Given the description of an element on the screen output the (x, y) to click on. 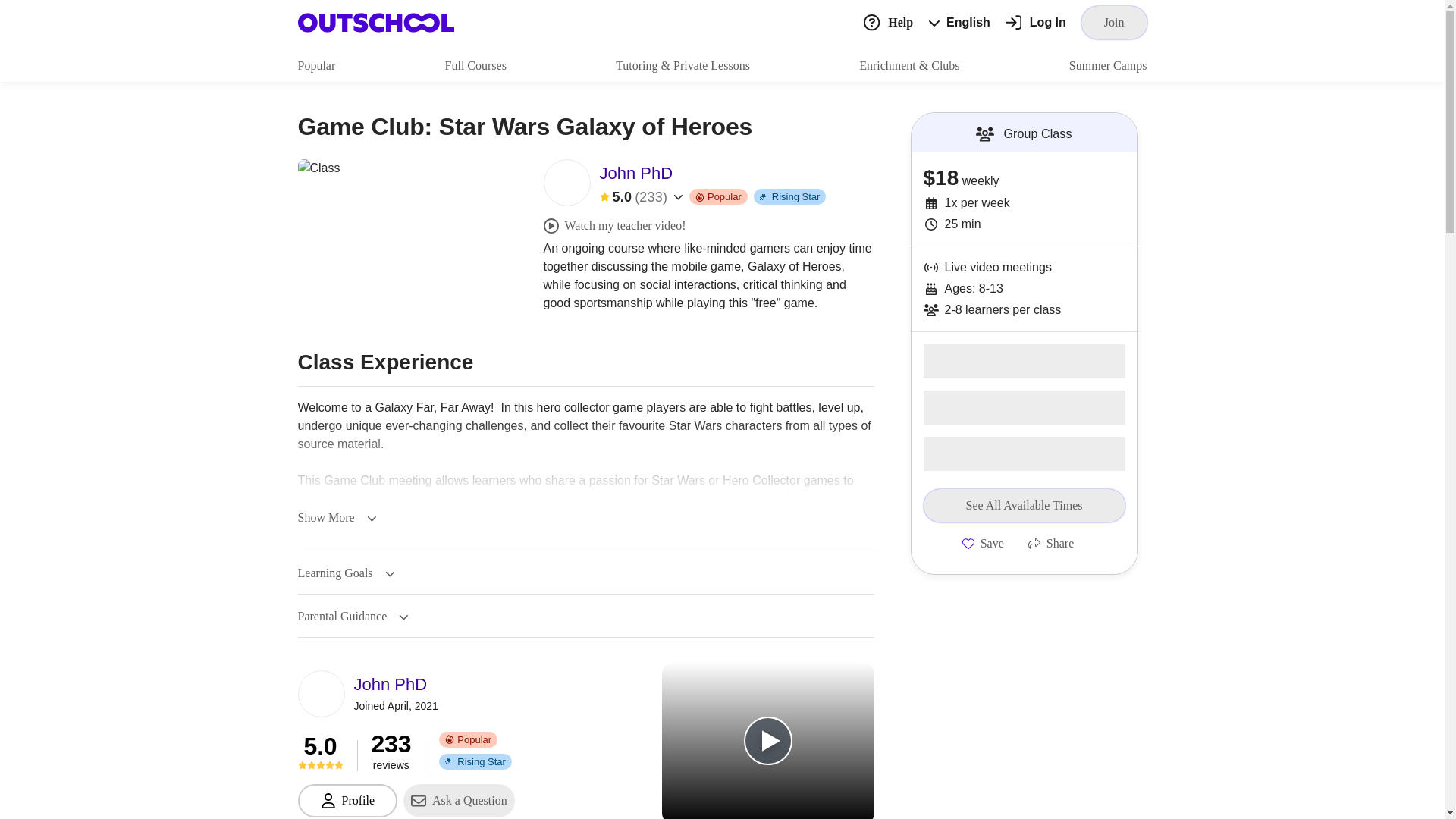
John PhD (395, 683)
Join (1114, 22)
Profile (347, 800)
Help (887, 21)
Log In (1035, 22)
Popular (315, 65)
Watch my teacher video! (614, 225)
Parental Guidance (353, 616)
Learning Goals (345, 573)
Ask a Question (459, 800)
Save (983, 543)
Summer Camps (1107, 65)
See All Available Times (1024, 505)
Share (1051, 543)
Show More (336, 517)
